Given the description of an element on the screen output the (x, y) to click on. 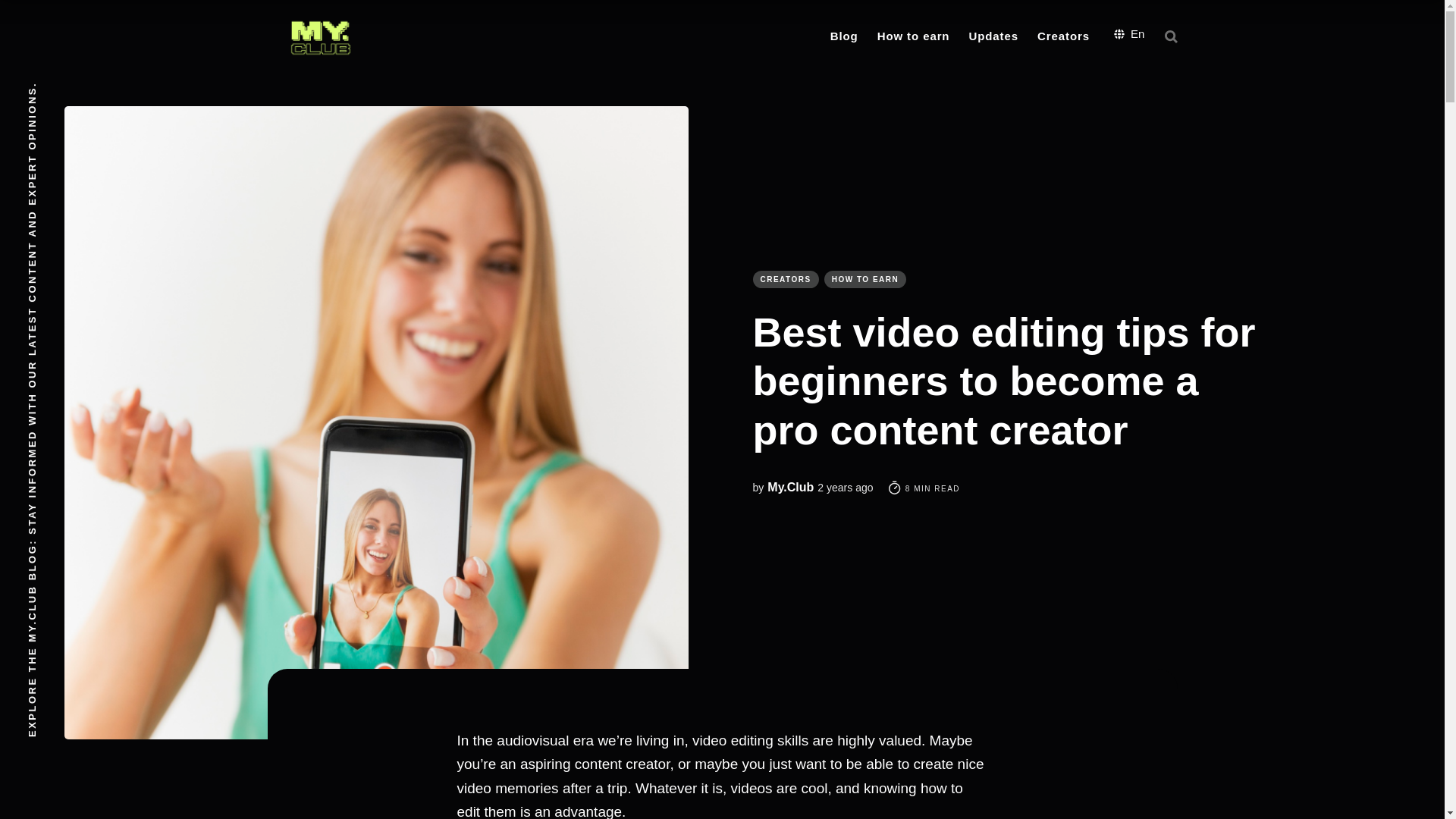
Creators (1063, 35)
Updates (993, 35)
CREATORS (785, 279)
En (1128, 33)
How to earn (913, 35)
My.Club (790, 486)
Blog (844, 35)
HOW TO EARN (865, 279)
